Given the description of an element on the screen output the (x, y) to click on. 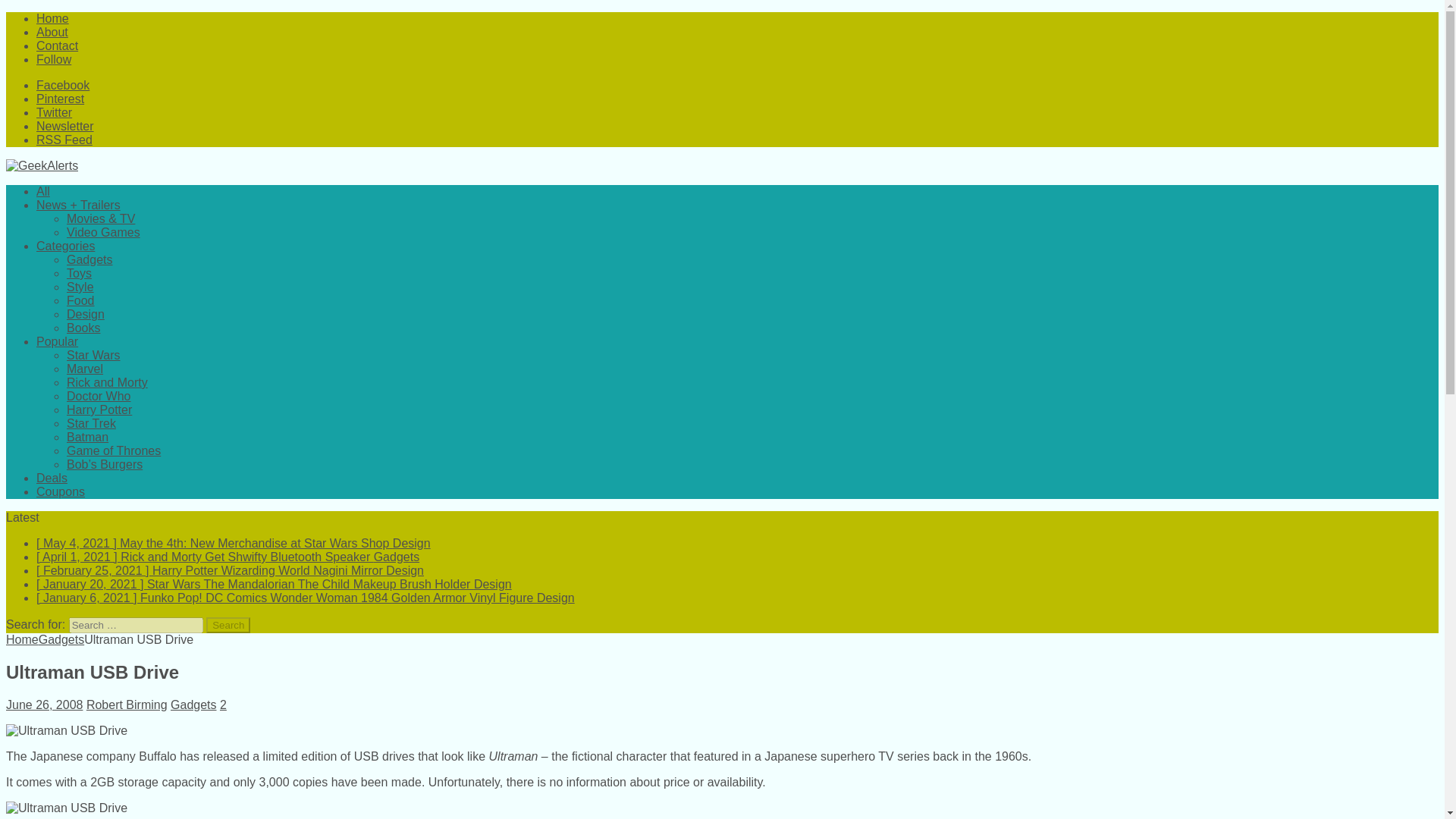
Rick and Morty (107, 382)
Toys (78, 273)
Gadgets (89, 259)
Home (52, 18)
Batman (86, 436)
Style (80, 286)
Search (228, 625)
Follow (53, 59)
Deals (51, 477)
Marvel (84, 368)
Search (228, 625)
Pinterest (60, 98)
Facebook (62, 84)
RSS Feed (64, 139)
May the 4th: New Merchandise at Star Wars Shop (233, 543)
